Given the description of an element on the screen output the (x, y) to click on. 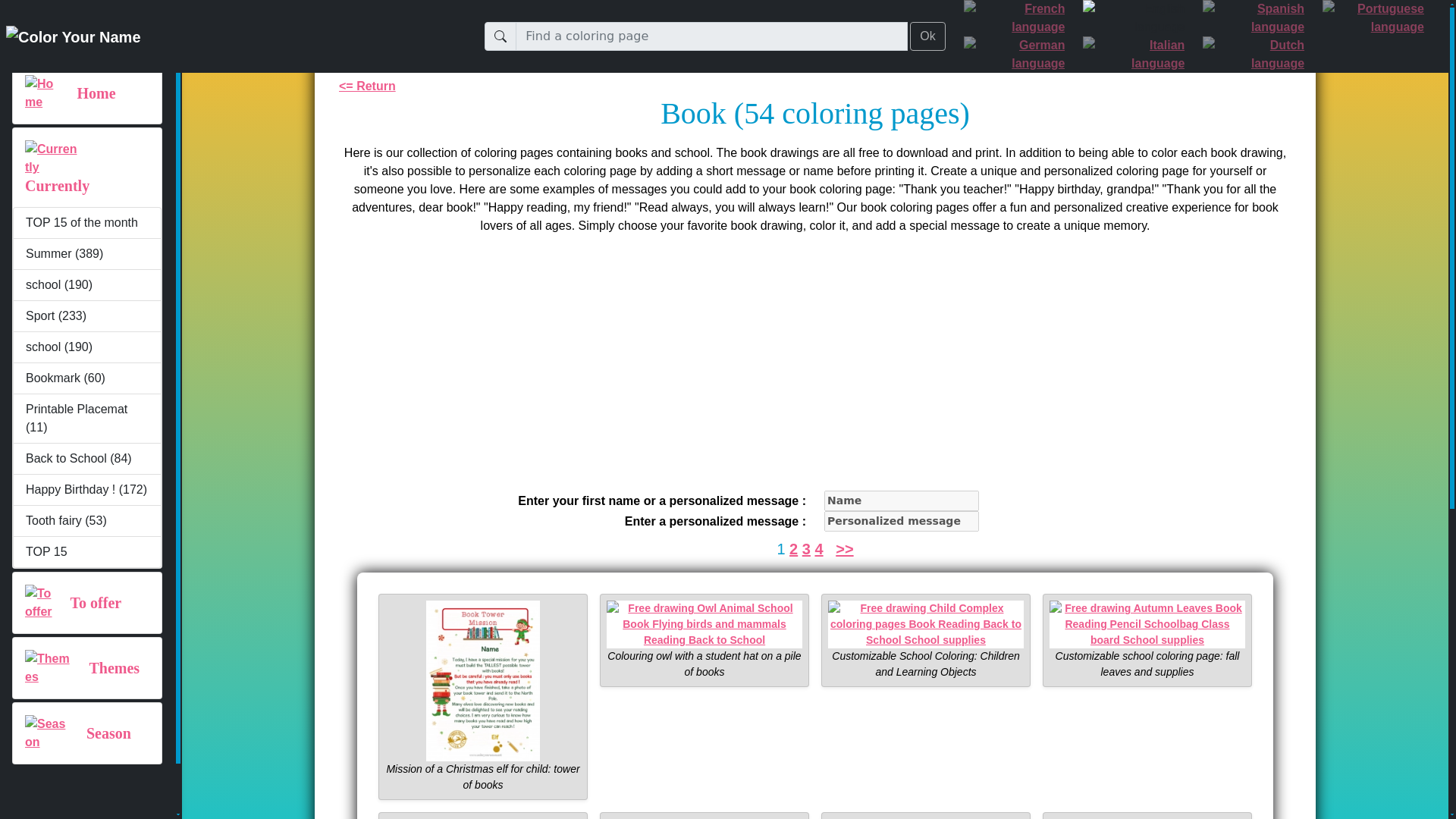
Themes (113, 668)
TOP 15 (87, 552)
Personalized message (901, 521)
Home (96, 93)
Currently (56, 185)
TOP 15 of the month (87, 223)
Name (901, 500)
To offer (95, 602)
